Given the description of an element on the screen output the (x, y) to click on. 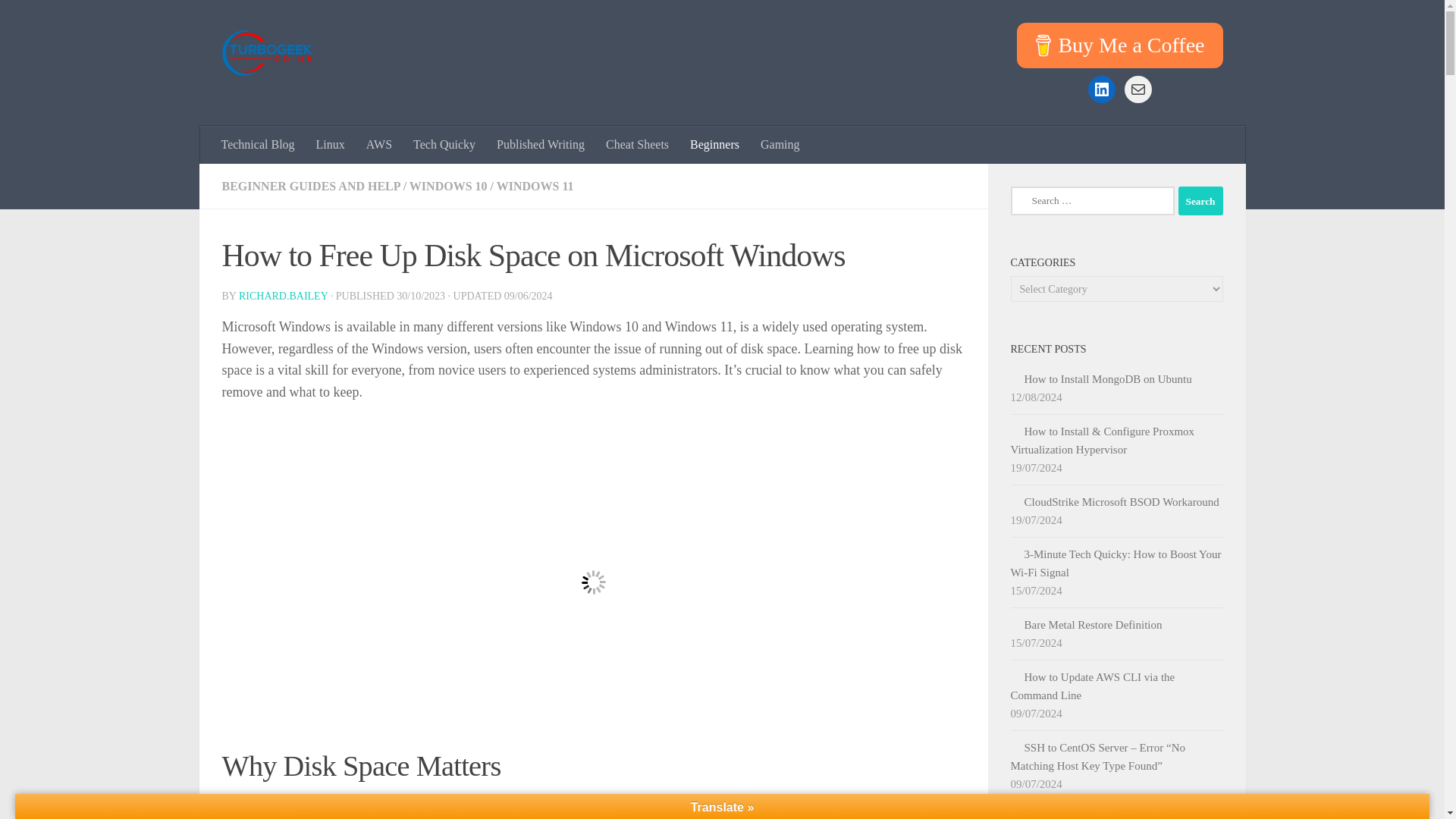
Posts by Richard.Bailey (282, 296)
AWS (379, 144)
Gaming (779, 144)
Linux (330, 144)
RICHARD.BAILEY (282, 296)
Search (1200, 200)
Skip to content (59, 20)
LinkedIn (1101, 89)
BEGINNER GUIDES AND HELP (309, 185)
Buy Me a Coffee (1119, 44)
